Given the description of an element on the screen output the (x, y) to click on. 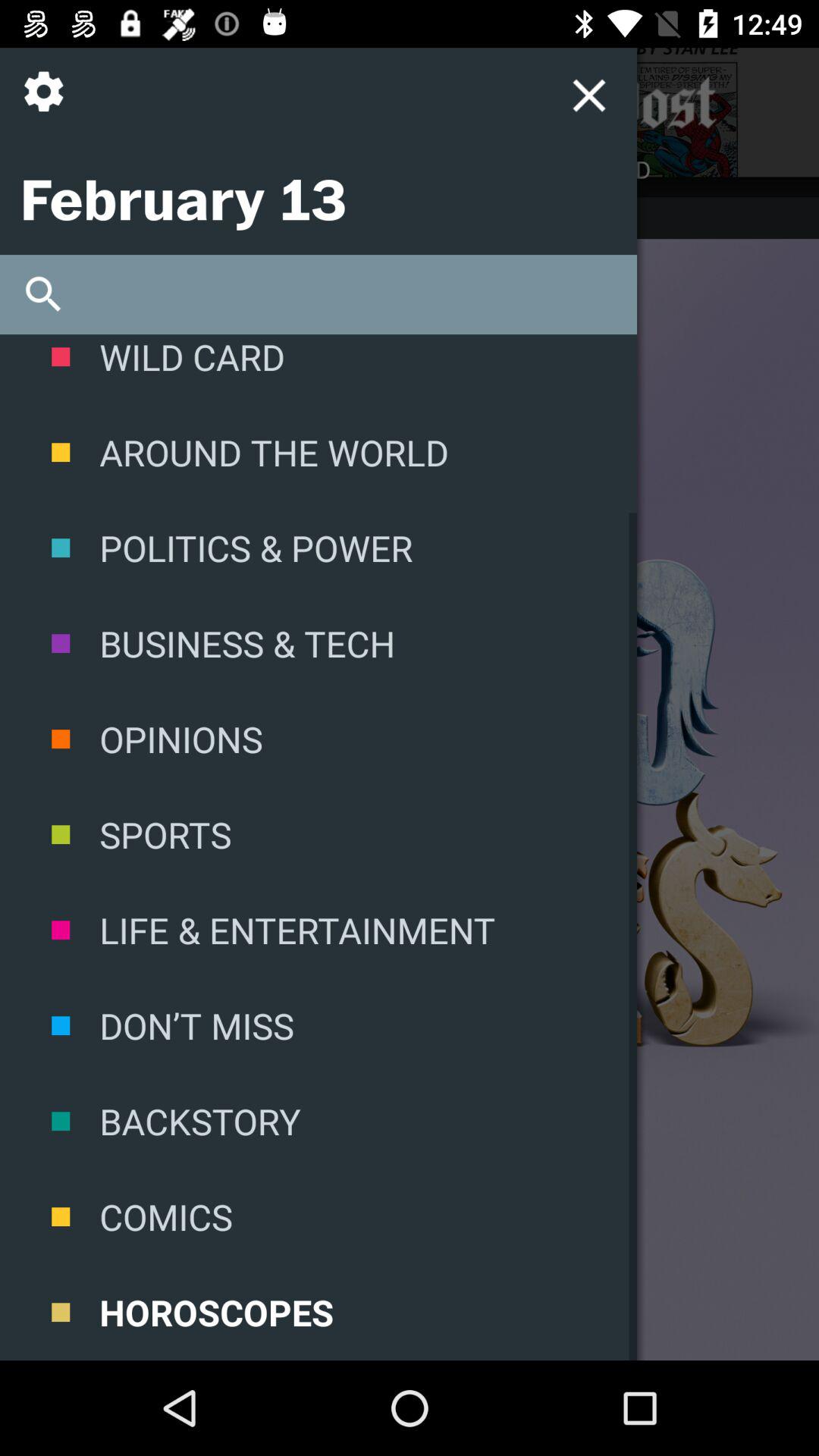
search bar (318, 294)
